Given the description of an element on the screen output the (x, y) to click on. 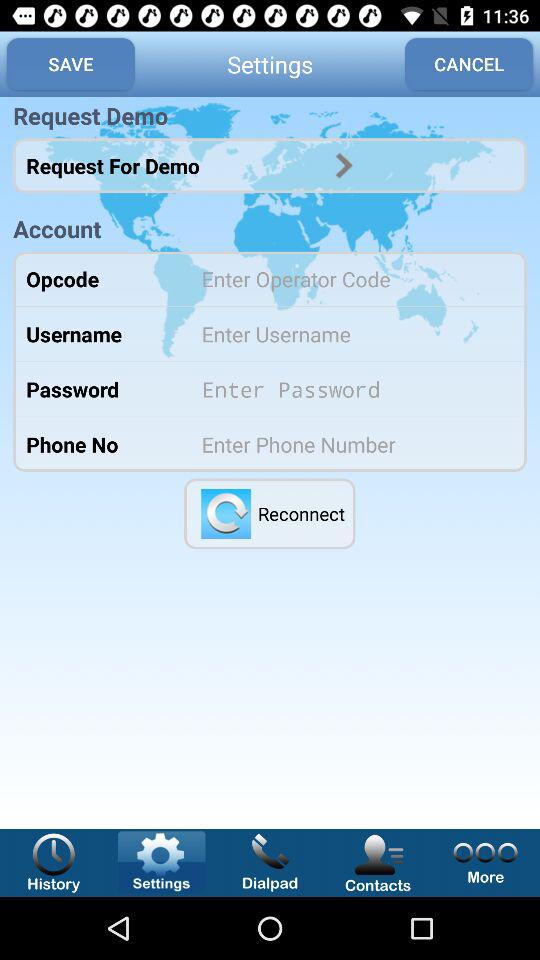
click the icon next to settings (70, 64)
